Given the description of an element on the screen output the (x, y) to click on. 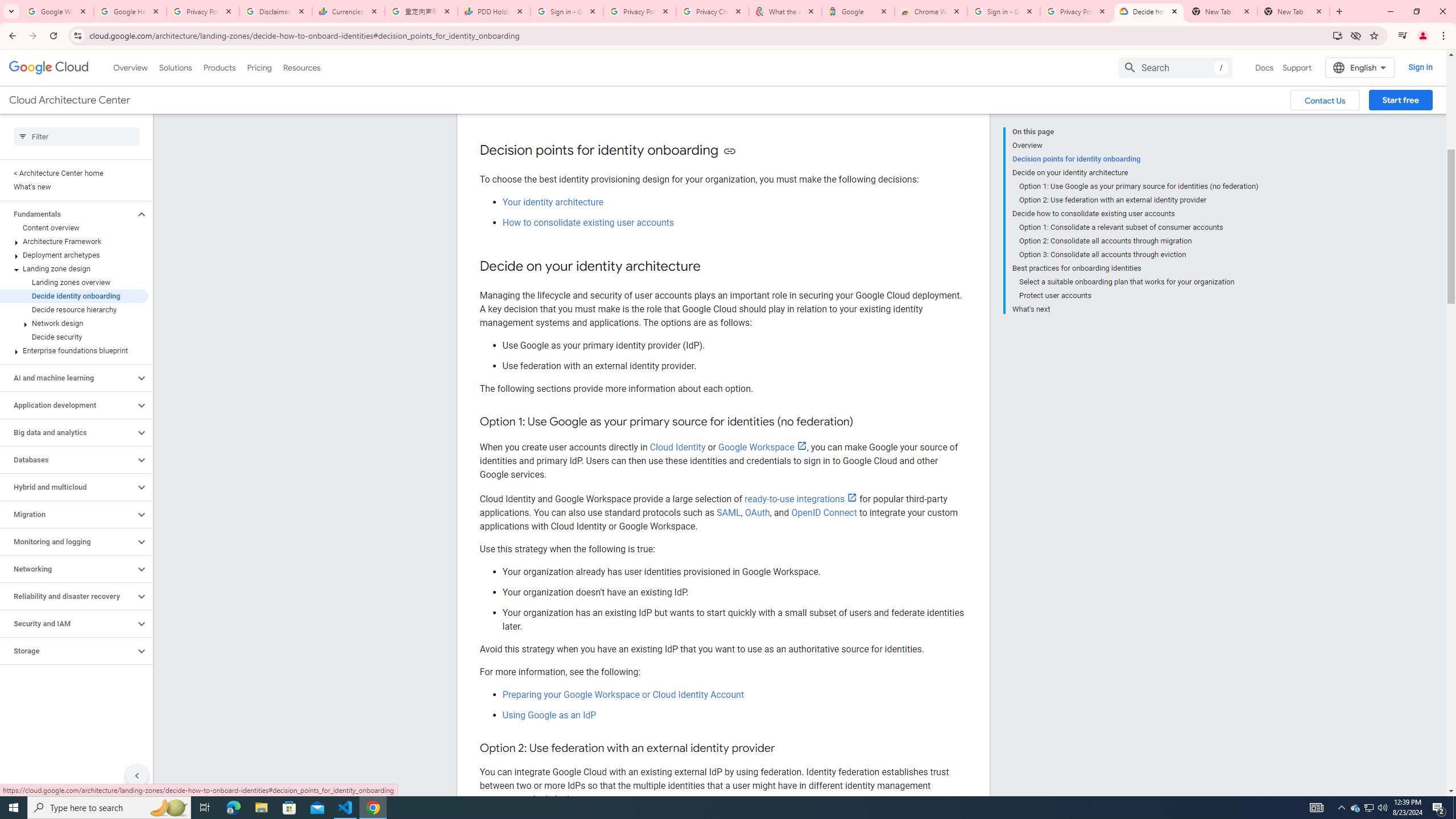
Landing zones overview (74, 282)
Chrome Web Store - Color themes by Chrome (930, 11)
Fundamentals (67, 214)
Decide how to consolidate existing user accounts (1134, 213)
PDD Holdings Inc - ADR (PDD) Price & News - Google Finance (493, 11)
Pricing (259, 67)
Decide resource hierarchy (74, 309)
Privacy Checkup (712, 11)
What's new (74, 187)
Architecture Framework (74, 241)
Decide identity onboarding (74, 296)
Content overview (74, 228)
